Given the description of an element on the screen output the (x, y) to click on. 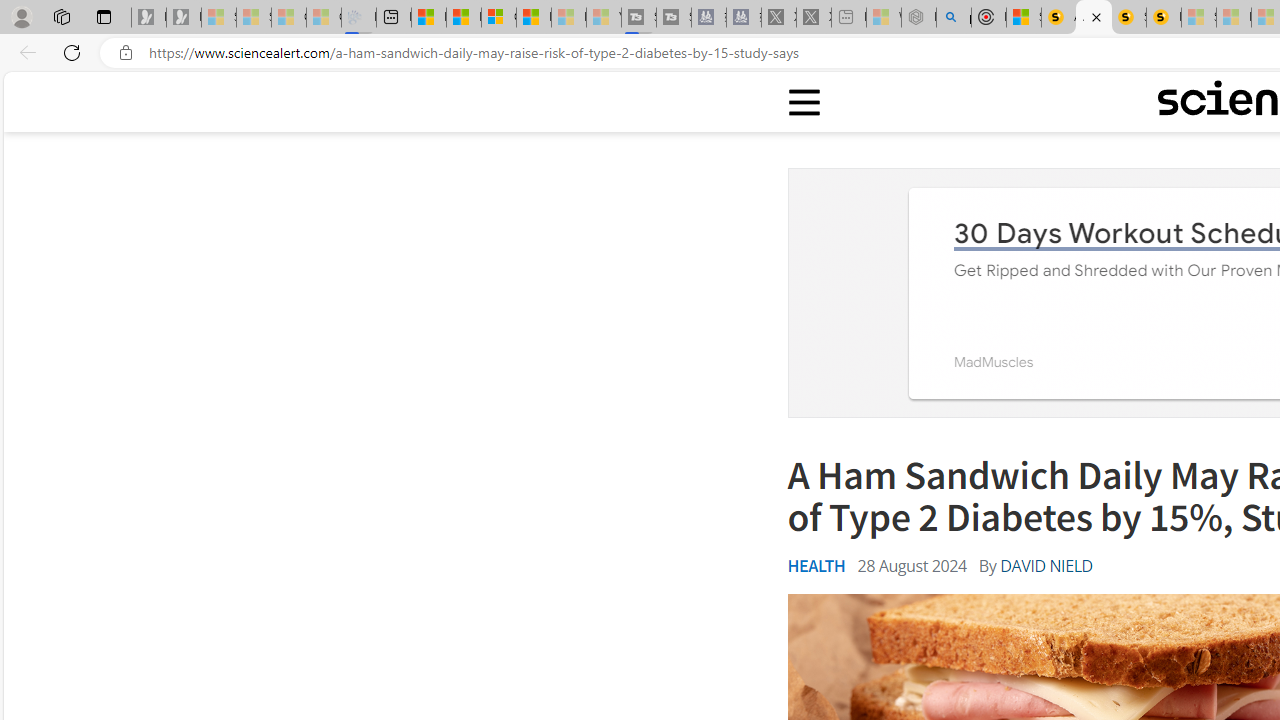
Nordace - Summer Adventures 2024 - Sleeping (918, 17)
DAVID NIELD (1046, 565)
Michelle Starr, Senior Journalist at ScienceAlert (1163, 17)
Class: sciencealert-menu-desktop-svg  (803, 102)
Main menu (805, 102)
poe - Search (954, 17)
